Given the description of an element on the screen output the (x, y) to click on. 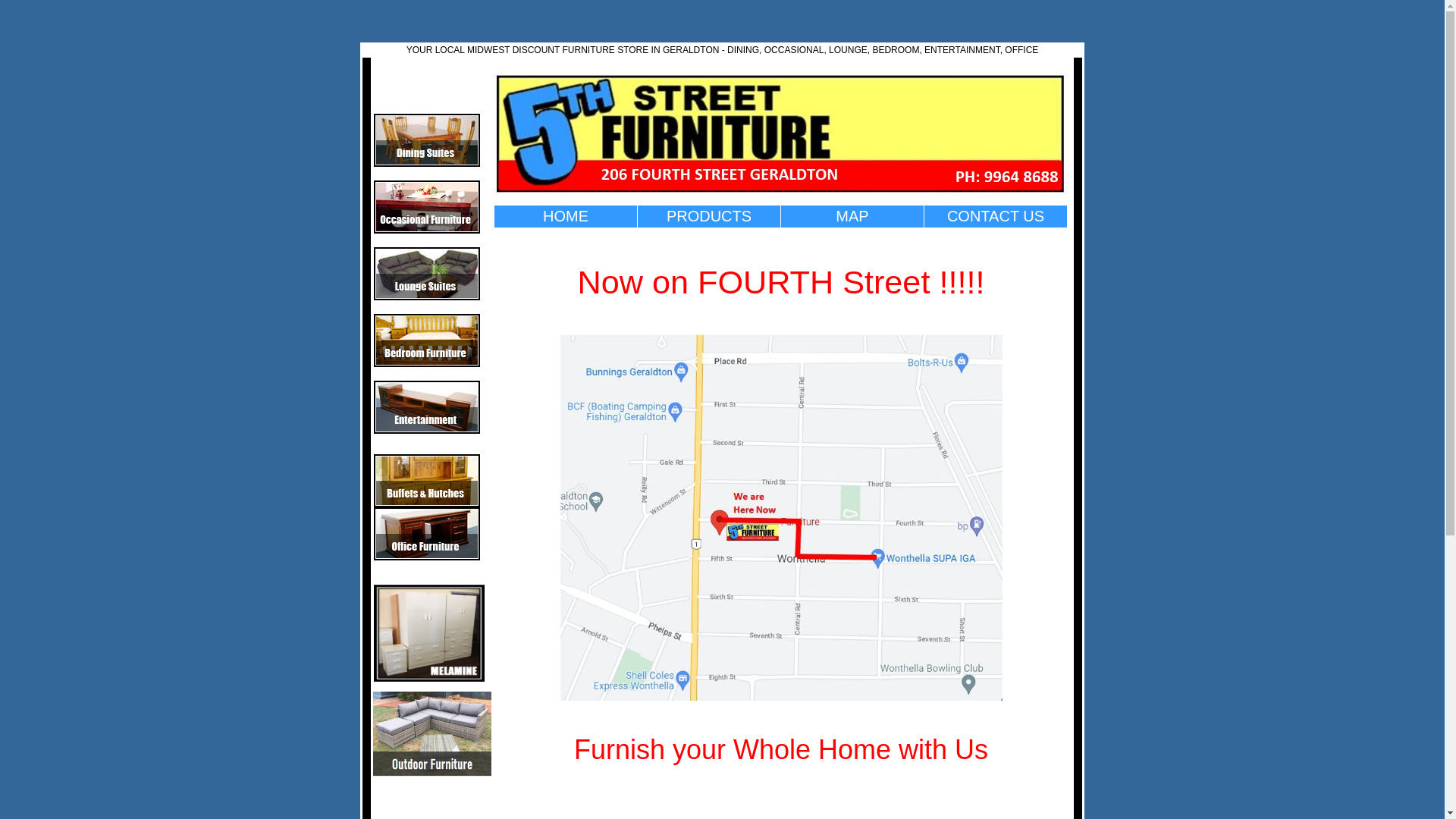
MAP Element type: text (851, 215)
PRODUCTS Element type: text (708, 215)
HOME Element type: text (565, 215)
CONTACT US Element type: text (995, 215)
